Given the description of an element on the screen output the (x, y) to click on. 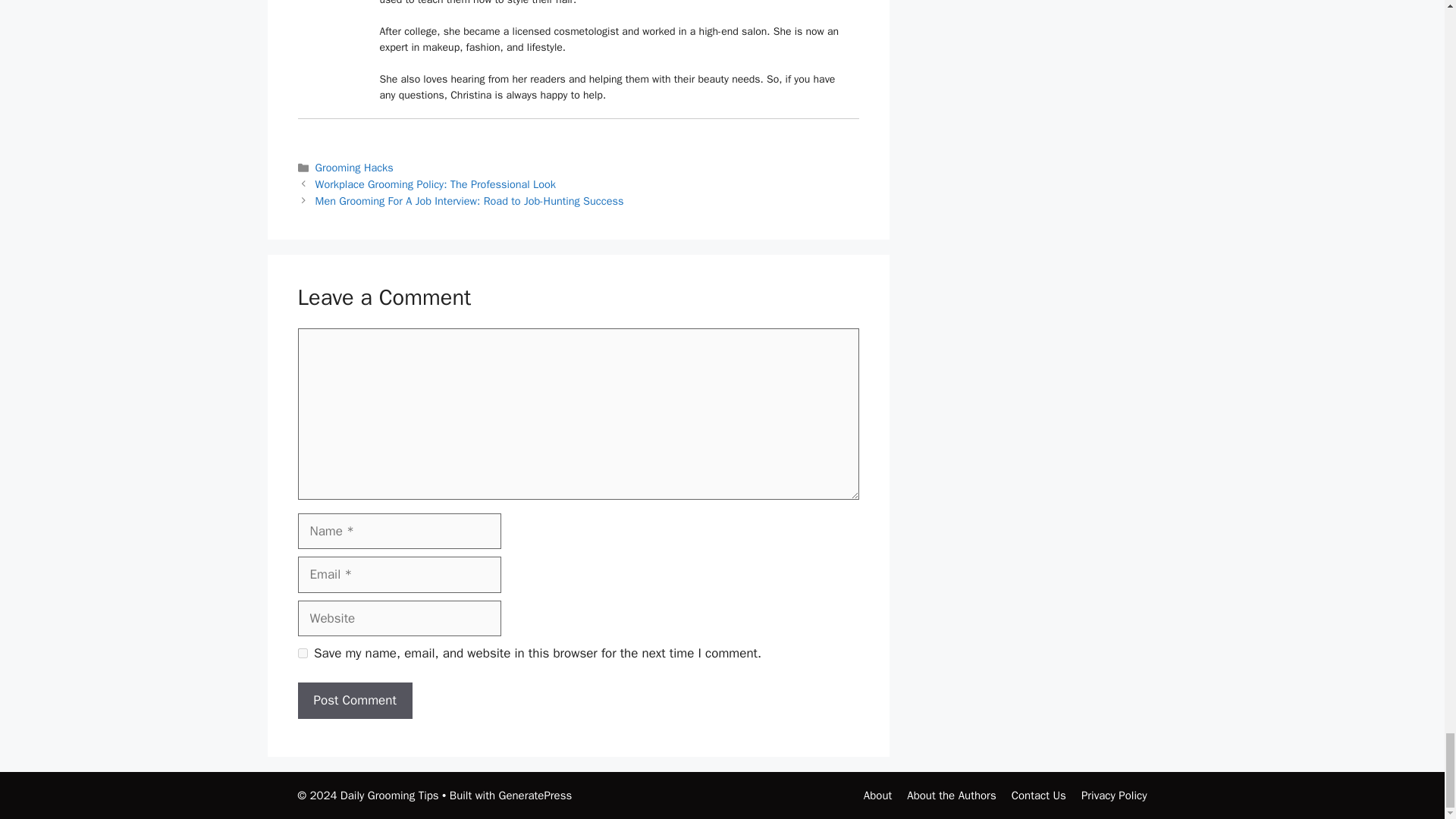
Grooming Hacks (354, 167)
yes (302, 653)
Workplace Grooming Policy: The Professional Look (435, 183)
Post Comment (354, 700)
